Given the description of an element on the screen output the (x, y) to click on. 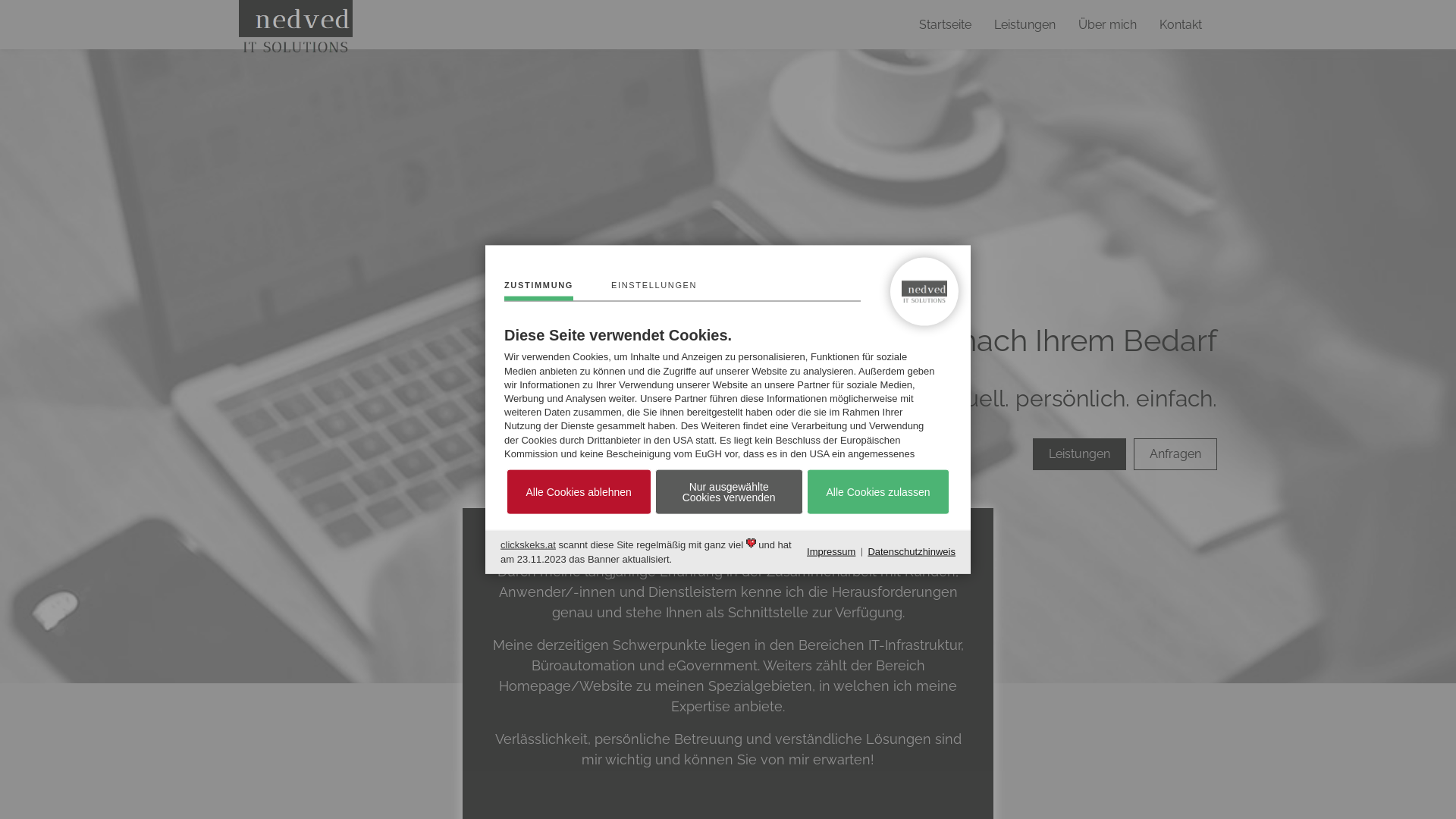
clickskeks.at Element type: text (527, 544)
Leistungen Element type: text (1024, 24)
Datenschutzhinweis Element type: text (911, 551)
Alle Cookies ablehnen Element type: text (578, 491)
Kontakt Element type: text (1180, 24)
Startseite Element type: text (944, 24)
Impressum Element type: text (830, 551)
Leistungen Element type: text (1079, 454)
Anfragen Element type: text (1175, 454)
Alle Cookies zulassen Element type: text (878, 491)
